Given the description of an element on the screen output the (x, y) to click on. 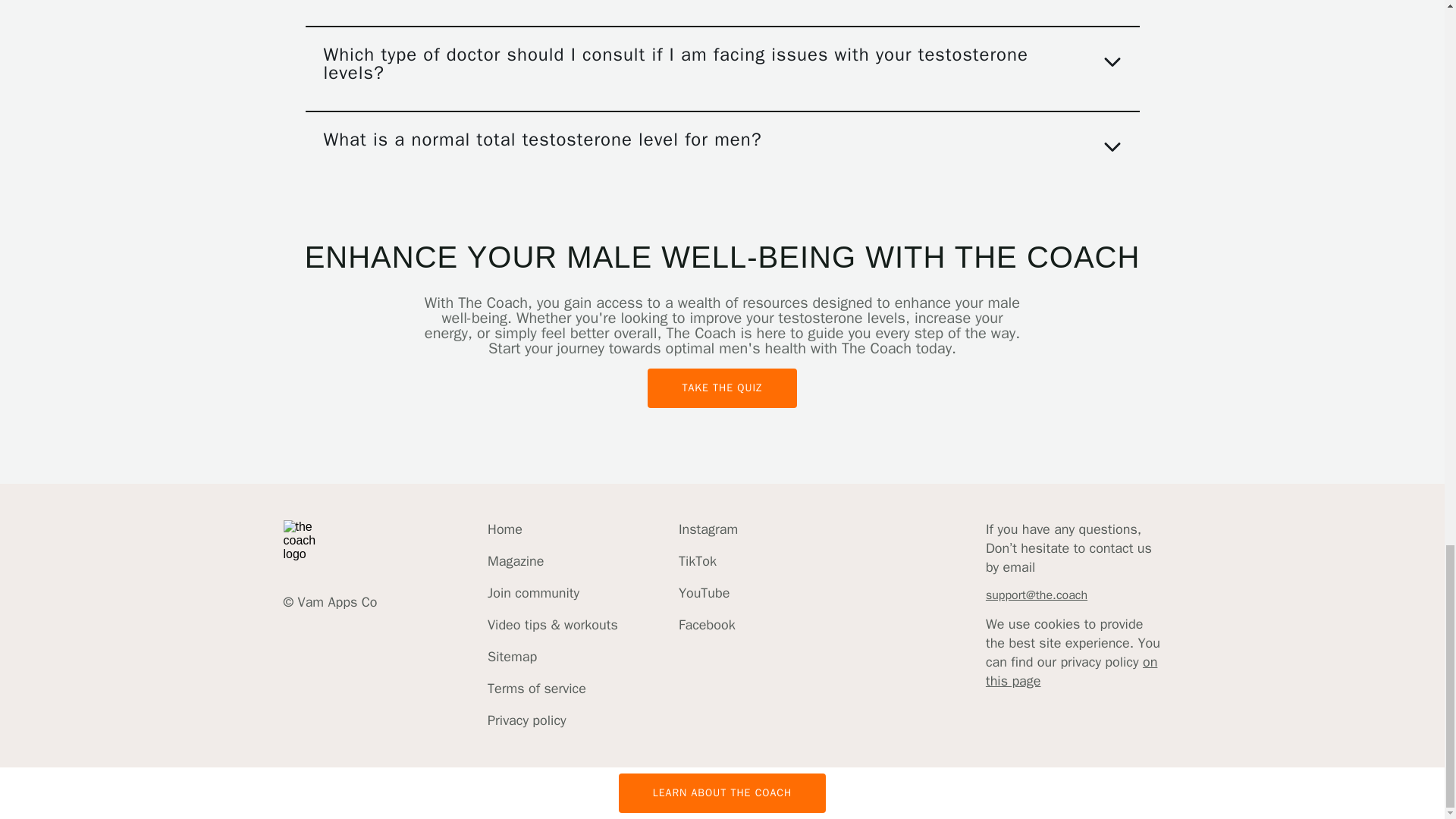
Facebook (708, 624)
Terms of service (552, 688)
on this page (1071, 671)
Join community (552, 592)
YouTube (708, 592)
Privacy policy (552, 720)
Instagram (708, 529)
TAKE THE QUIZ (721, 387)
Sitemap (552, 656)
TikTok (708, 561)
